Given the description of an element on the screen output the (x, y) to click on. 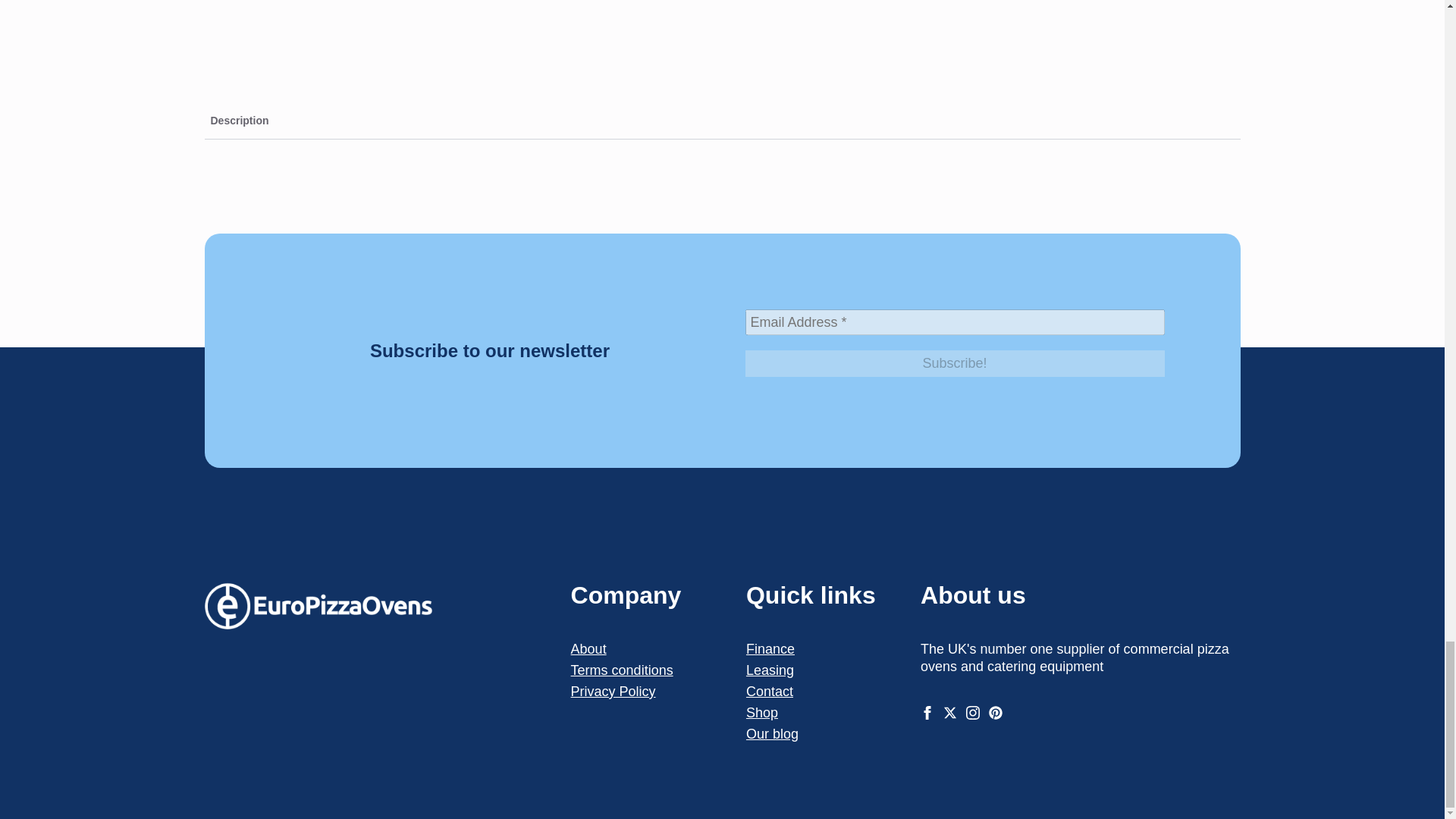
Email Address (953, 322)
Description (722, 120)
Subscribe! (953, 363)
